Given the description of an element on the screen output the (x, y) to click on. 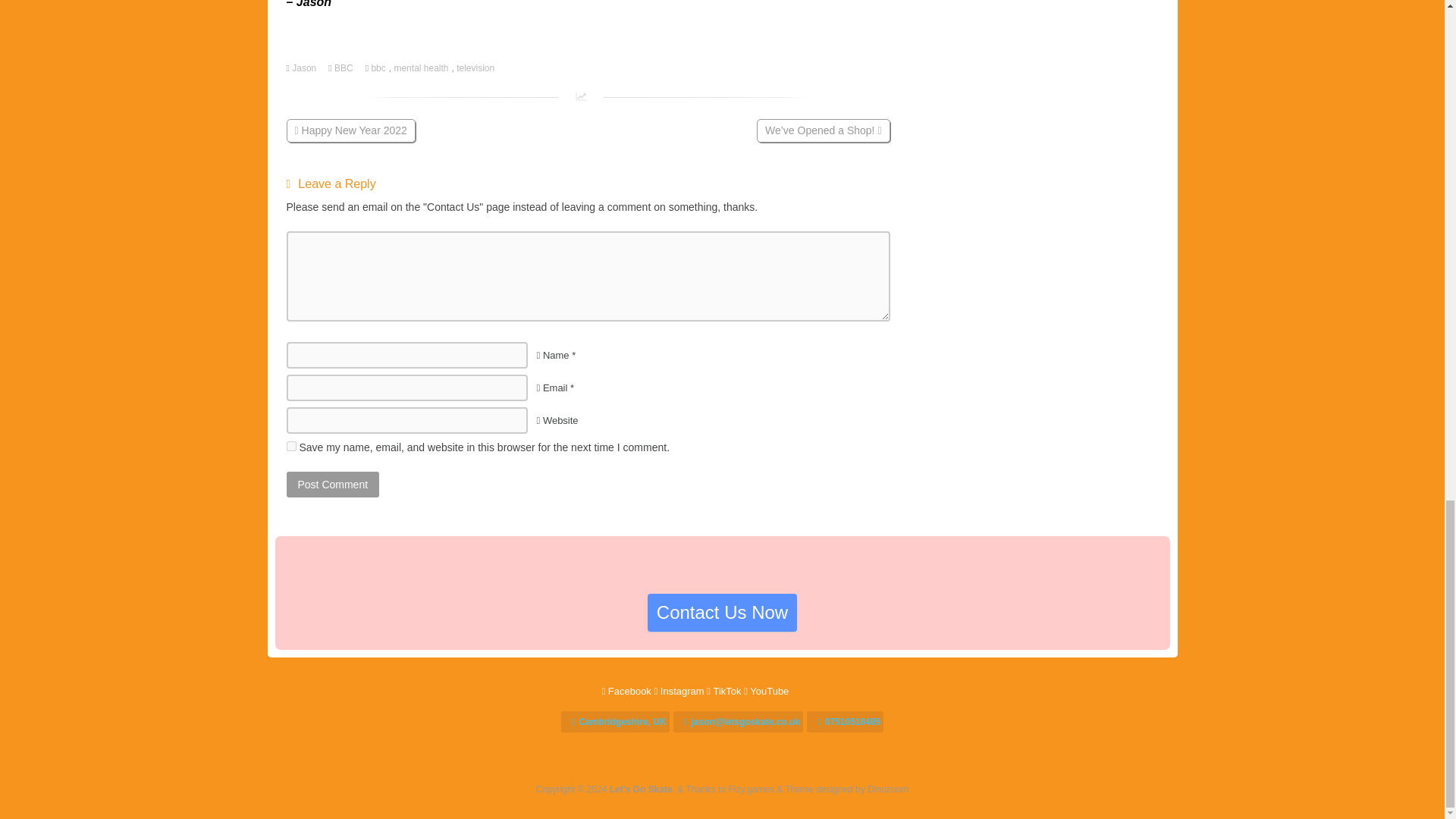
Post Comment (333, 484)
yes (291, 446)
